Given the description of an element on the screen output the (x, y) to click on. 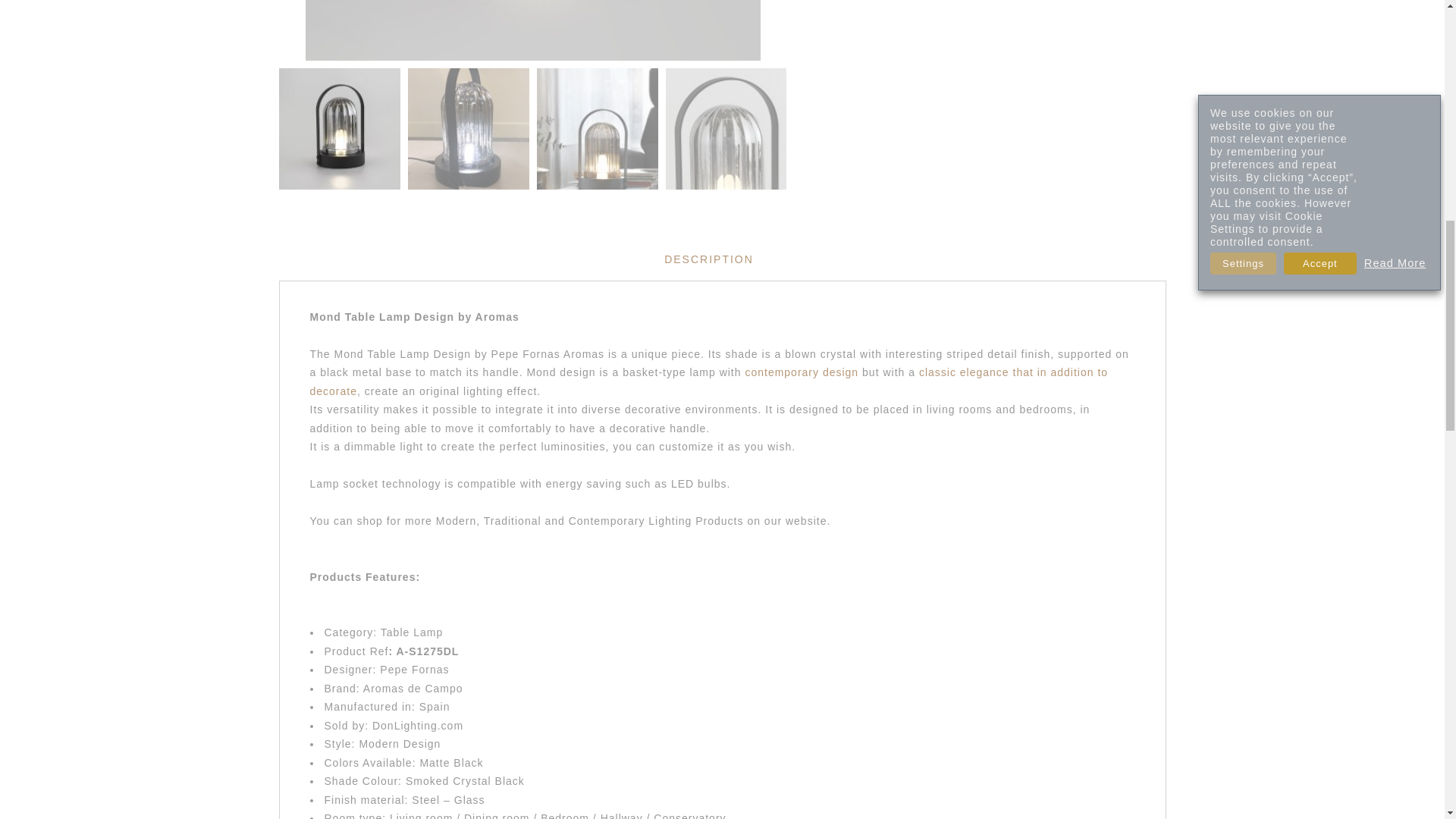
www.donlighting.com Mond Table Lamp Ref.A-S1275DL by Aromas (726, 128)
www.donlighting.com Mond Table Lamp Ref.A-S1275DL by Aromas (597, 128)
MOND Table Lamp Ref.A-S1275DL by Aromas (339, 128)
www.donlighting.com Mond Table Lamp Ref.A-S1275DL by Aromas (468, 128)
www.donlighting.com Mond Table Lamp Ref.A-S1275DL by Aromas (532, 30)
